Given the description of an element on the screen output the (x, y) to click on. 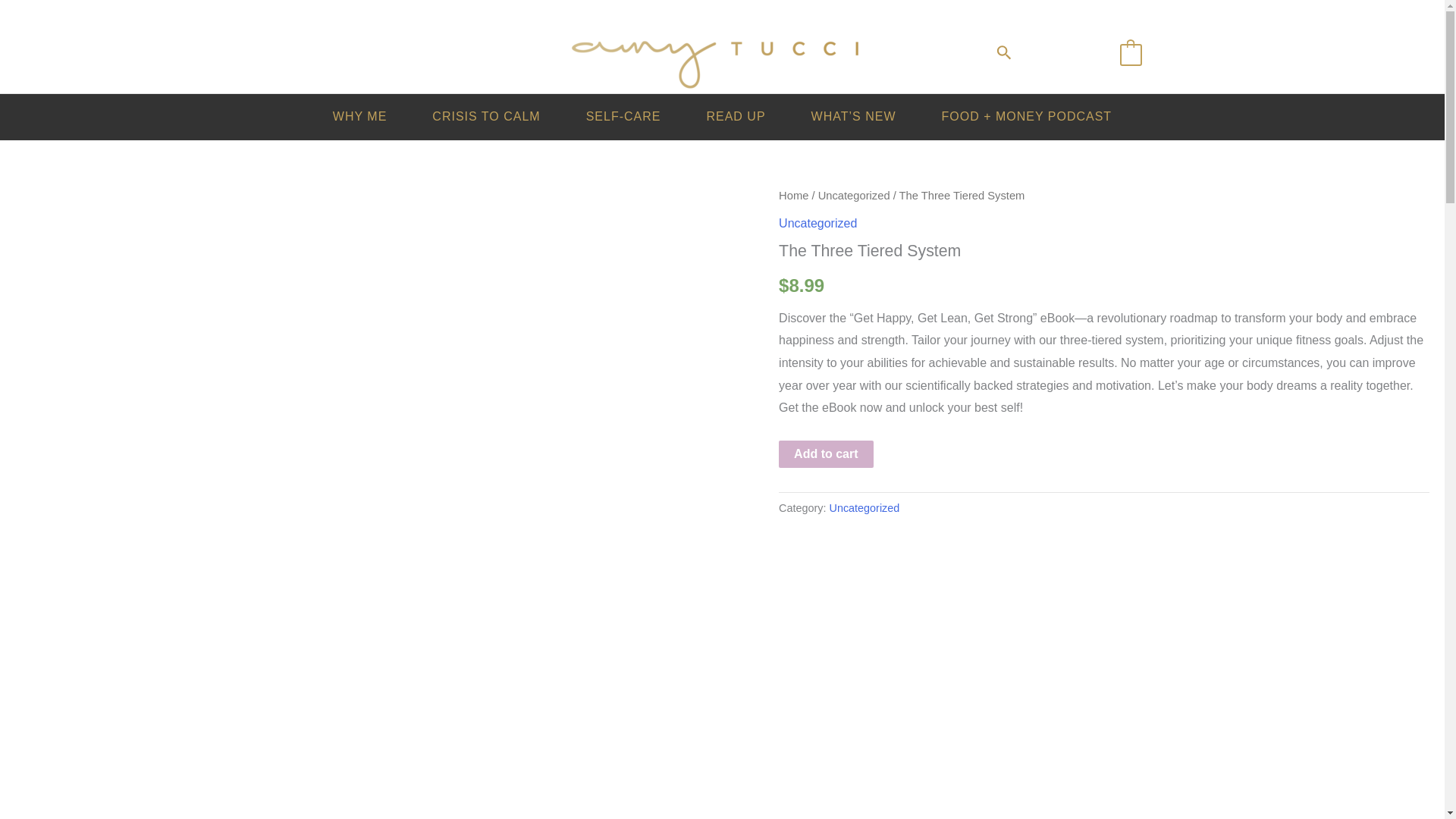
WHY ME (359, 116)
Home (793, 195)
CRISIS TO CALM (485, 116)
SELF-CARE (623, 116)
Add to cart (825, 453)
READ UP (734, 116)
LOGIN (326, 54)
Uncategorized (817, 223)
SUBSCRIBE (1065, 53)
Uncategorized (864, 508)
